Given the description of an element on the screen output the (x, y) to click on. 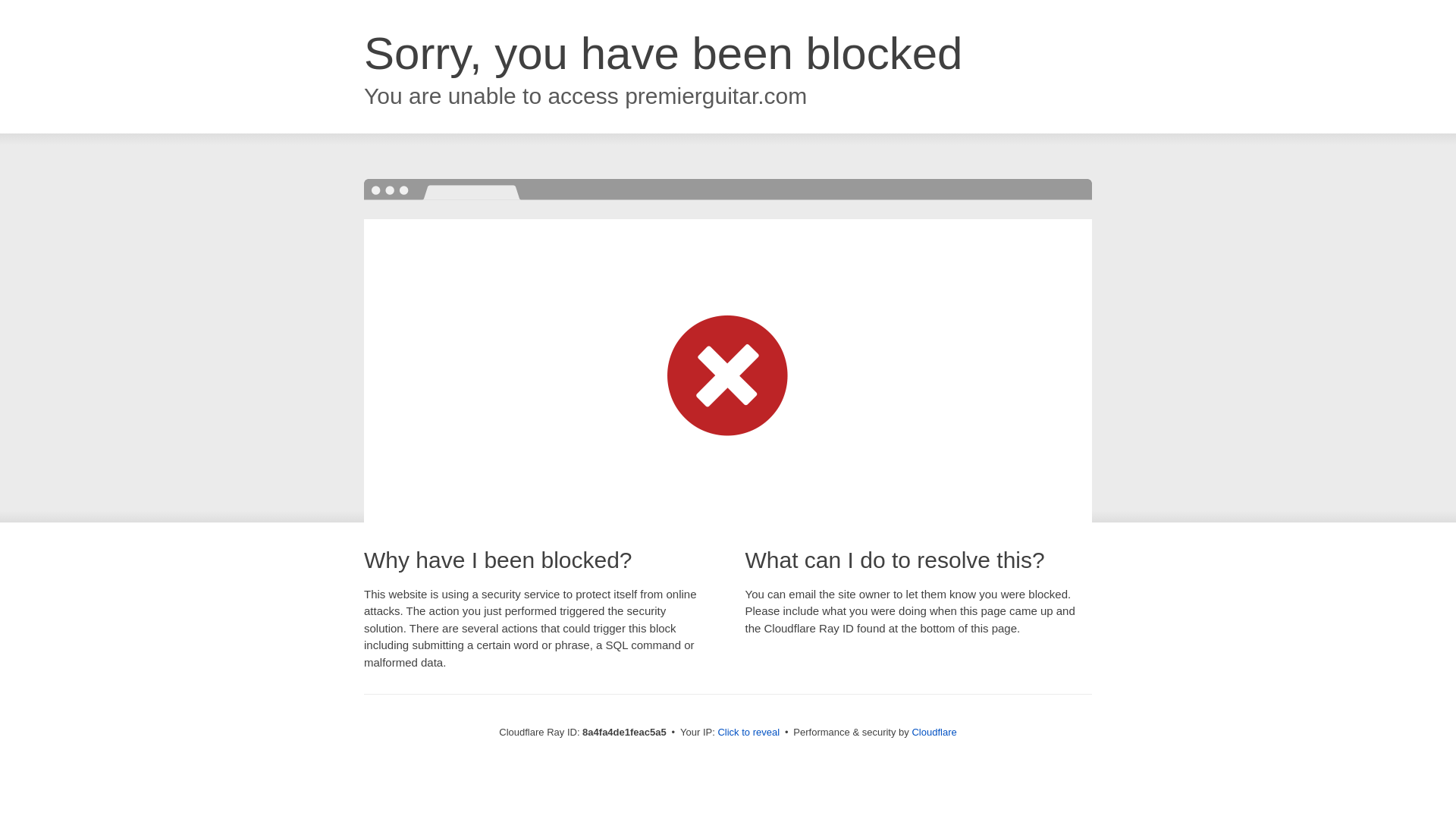
Click to reveal (747, 732)
Cloudflare (933, 731)
